Given the description of an element on the screen output the (x, y) to click on. 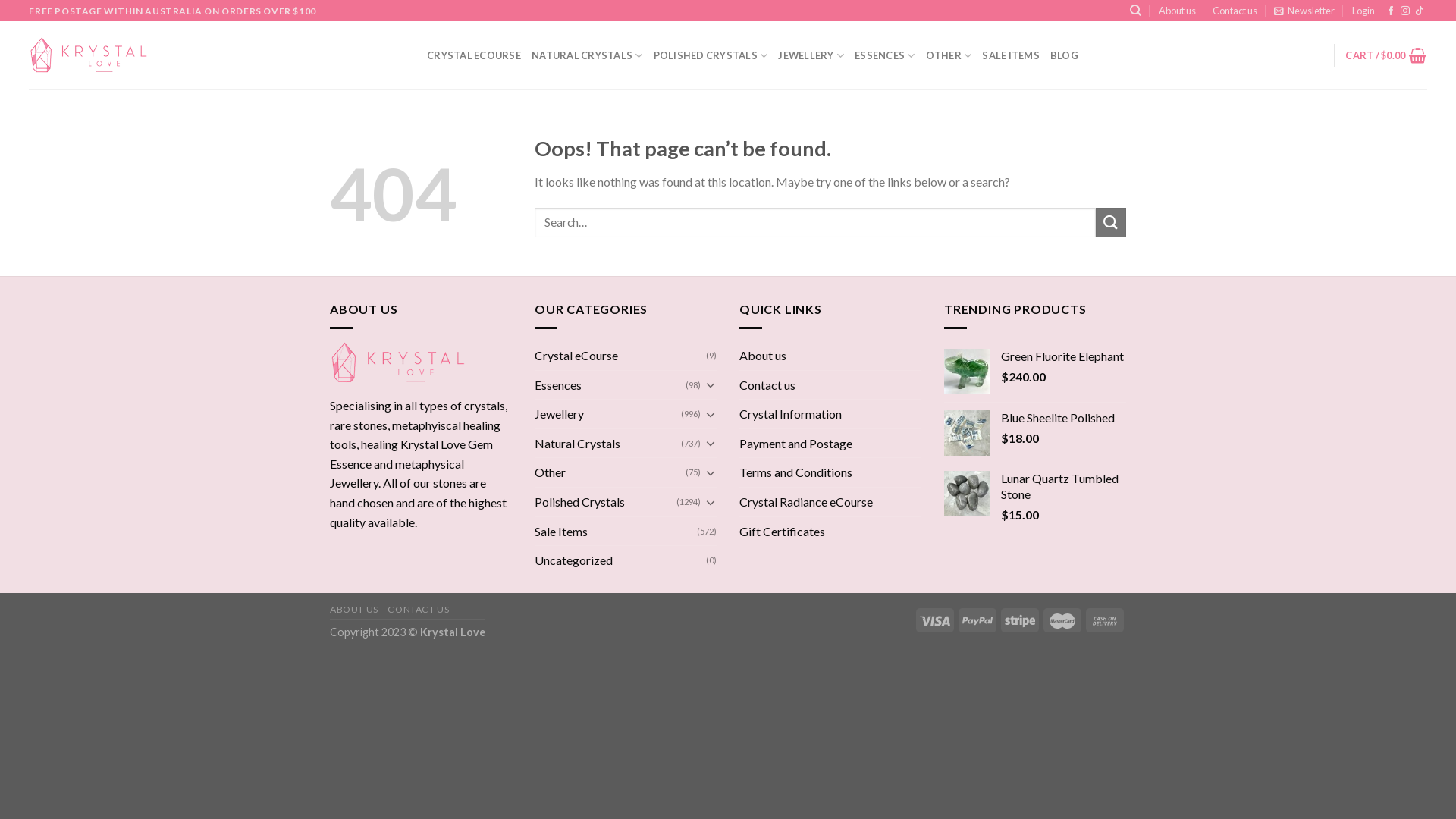
BLOG Element type: text (1064, 55)
Payment and Postage Element type: text (795, 443)
CRYSTAL ECOURSE Element type: text (473, 55)
Follow on TikTok Element type: hover (1419, 11)
Jewellery Element type: text (607, 413)
Polished Crystals Element type: text (605, 501)
JEWELLERY Element type: text (811, 55)
About us Element type: text (1176, 10)
ESSENCES Element type: text (884, 55)
NATURAL CRYSTALS Element type: text (587, 55)
Blue Sheelite Polished Element type: text (1063, 418)
Other Element type: text (609, 472)
Login Element type: text (1363, 10)
Sale Items Element type: text (615, 531)
Follow on Facebook Element type: hover (1390, 11)
CONTACT US Element type: text (417, 609)
Krystal Love - Crystal Shop Element type: hover (88, 55)
POLISHED CRYSTALS Element type: text (710, 55)
SALE ITEMS Element type: text (1010, 55)
Contact us Element type: text (767, 384)
About us Element type: text (762, 355)
Contact us Element type: text (1234, 10)
Uncategorized Element type: text (620, 560)
Gift Certificates Element type: text (782, 531)
OTHER Element type: text (948, 55)
Crystal eCourse Element type: text (620, 355)
Crystal Radiance eCourse Element type: text (805, 501)
Lunar Quartz Tumbled Stone Element type: text (1063, 486)
CART / $0.00 Element type: text (1385, 55)
Green Fluorite Elephant Element type: text (1063, 356)
Terms and Conditions Element type: text (795, 472)
Crystal Information Element type: text (790, 413)
Follow on Instagram Element type: hover (1404, 11)
Essences Element type: text (609, 384)
Natural Crystals Element type: text (607, 443)
ABOUT US Element type: text (353, 609)
Newsletter Element type: text (1304, 10)
